Given the description of an element on the screen output the (x, y) to click on. 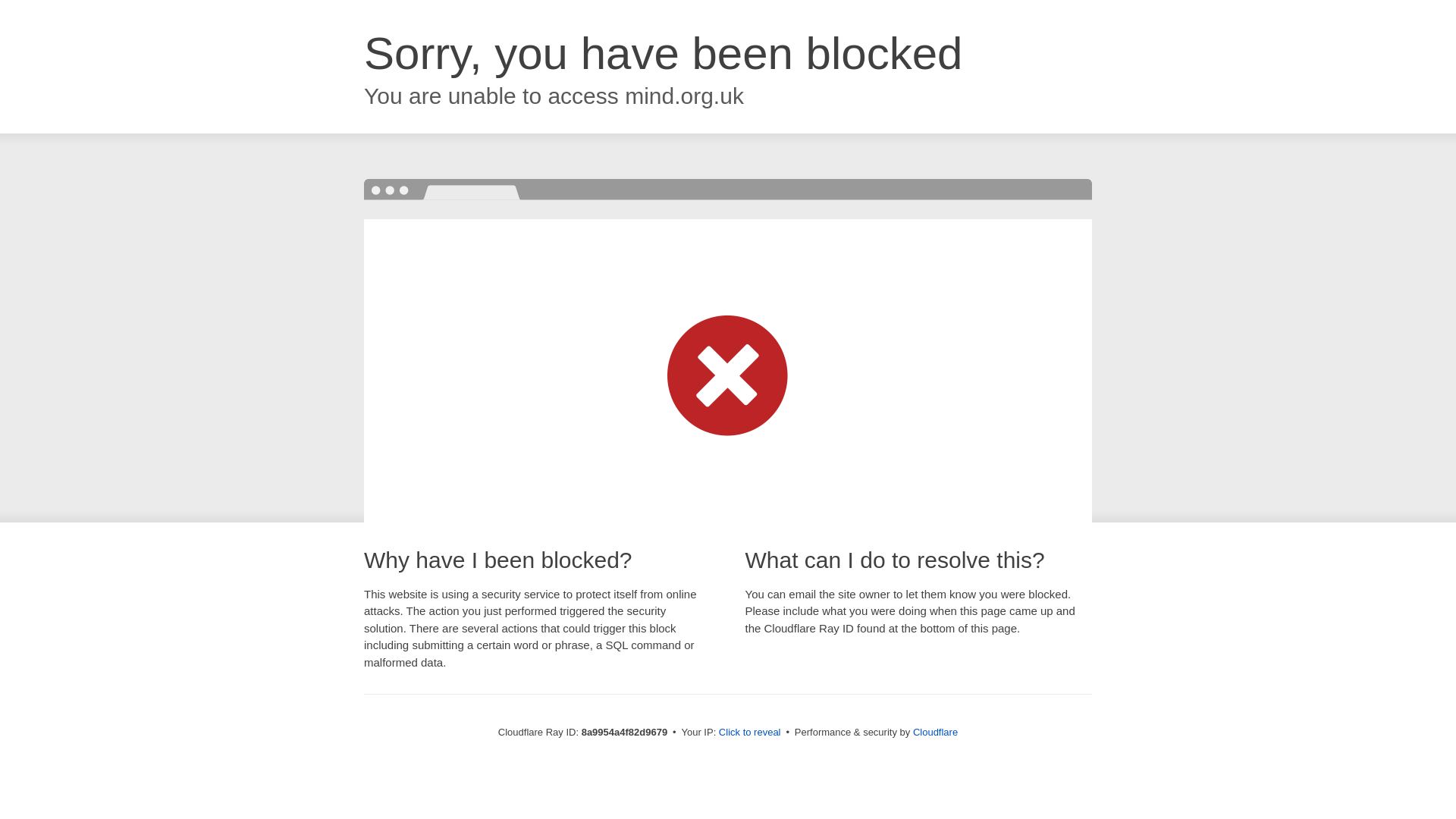
Cloudflare (935, 731)
Click to reveal (749, 732)
